Given the description of an element on the screen output the (x, y) to click on. 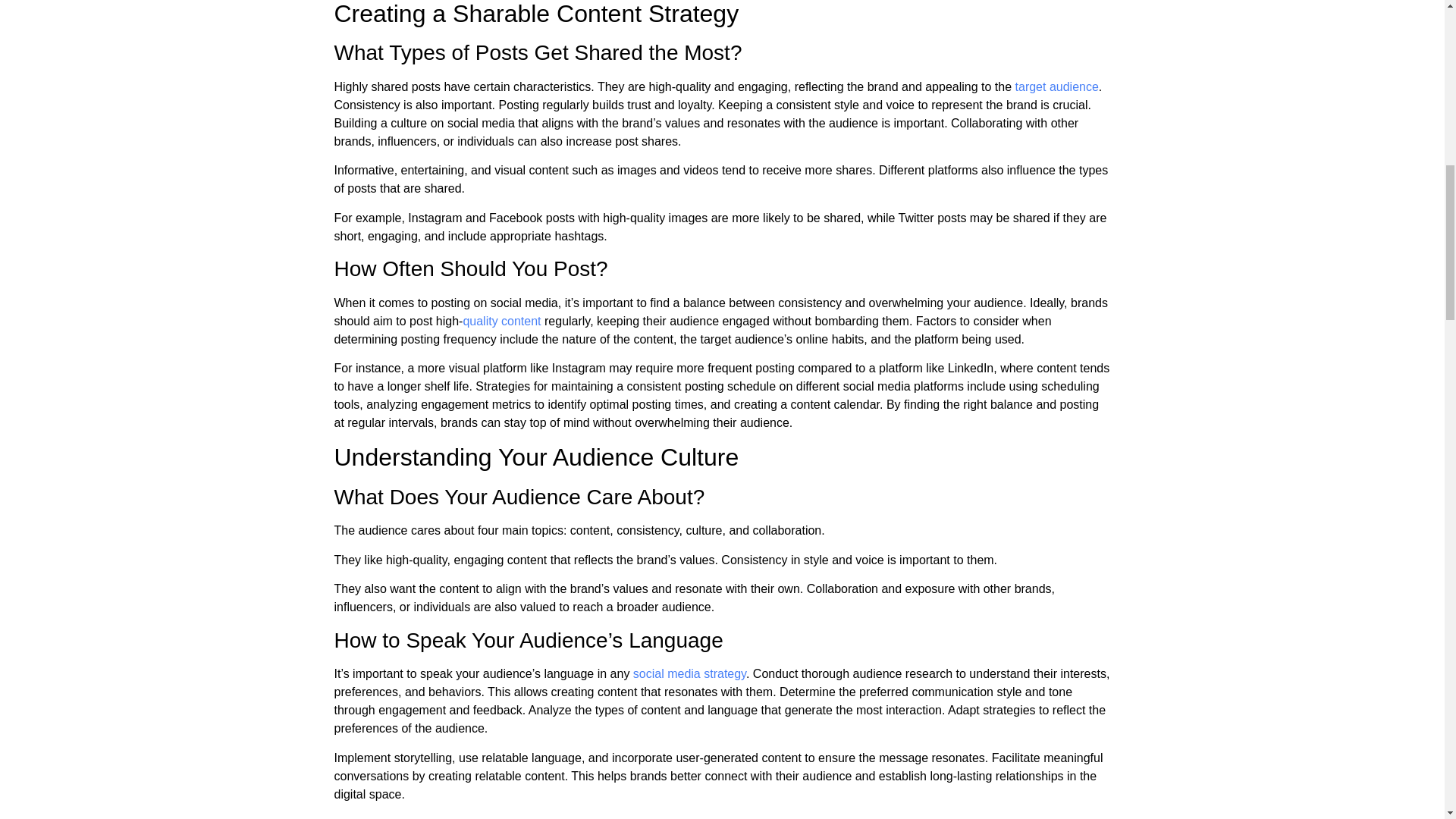
quality content (501, 320)
social media strategy (689, 673)
target audience (1056, 86)
